Given the description of an element on the screen output the (x, y) to click on. 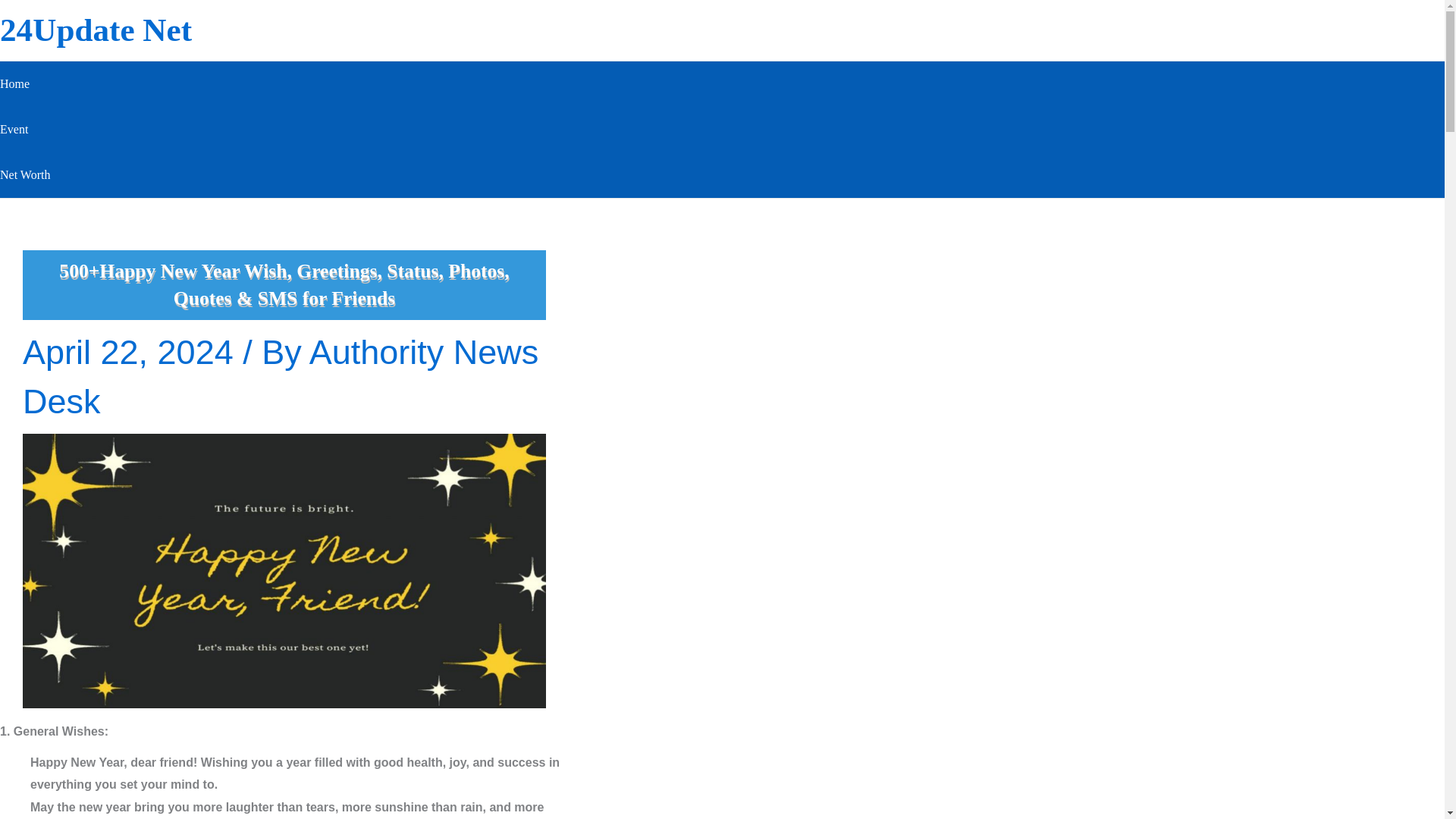
View all posts by Authority News Desk (280, 376)
Home (24, 84)
Net Worth (24, 175)
Authority News Desk (280, 376)
Event (24, 129)
24Update Net (96, 29)
